Given the description of an element on the screen output the (x, y) to click on. 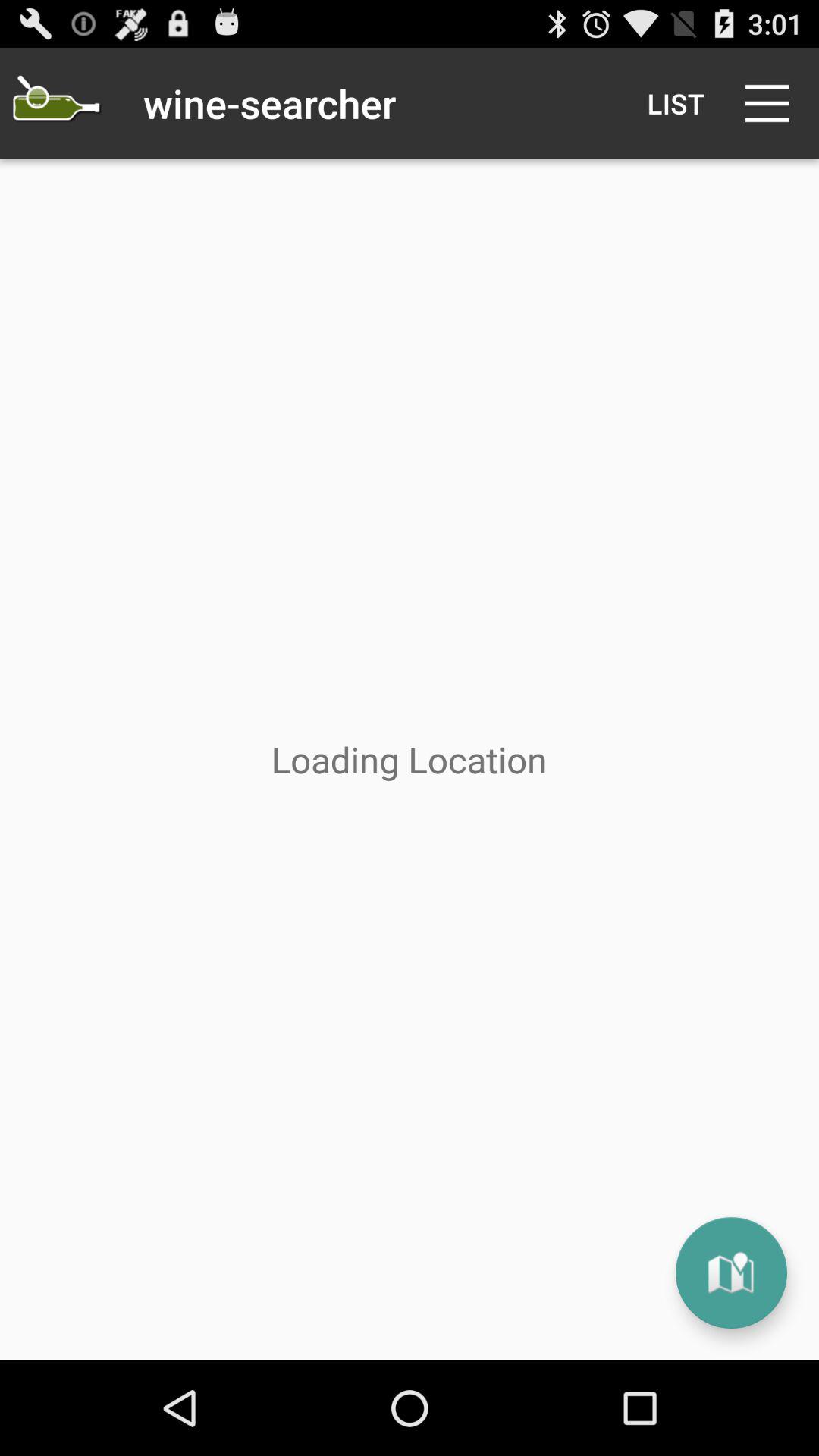
swipe until the list icon (675, 103)
